Given the description of an element on the screen output the (x, y) to click on. 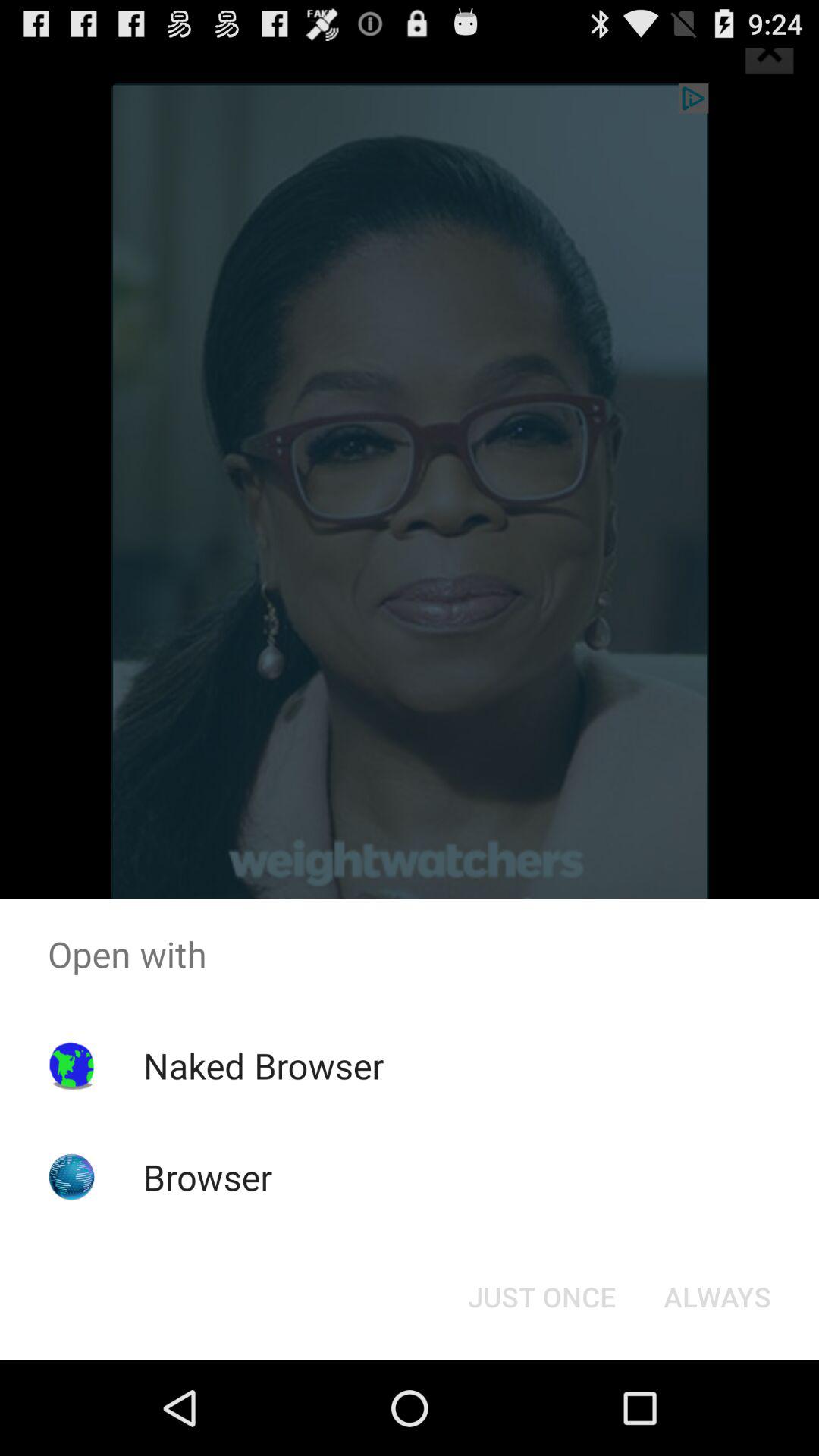
open the icon to the right of the just once button (717, 1296)
